Given the description of an element on the screen output the (x, y) to click on. 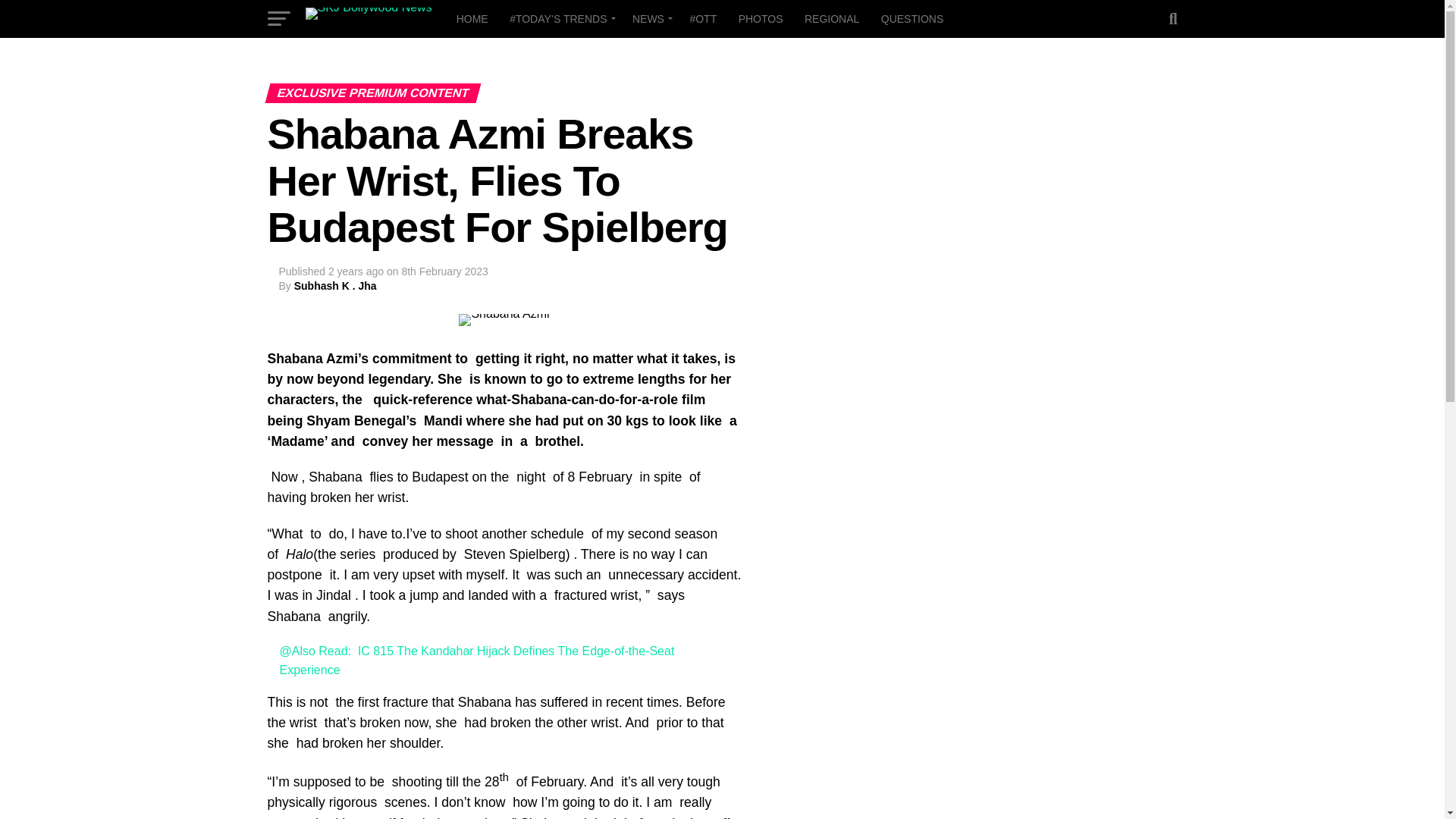
NEWS (650, 18)
PHOTOS (760, 18)
HOME (471, 18)
